Given the description of an element on the screen output the (x, y) to click on. 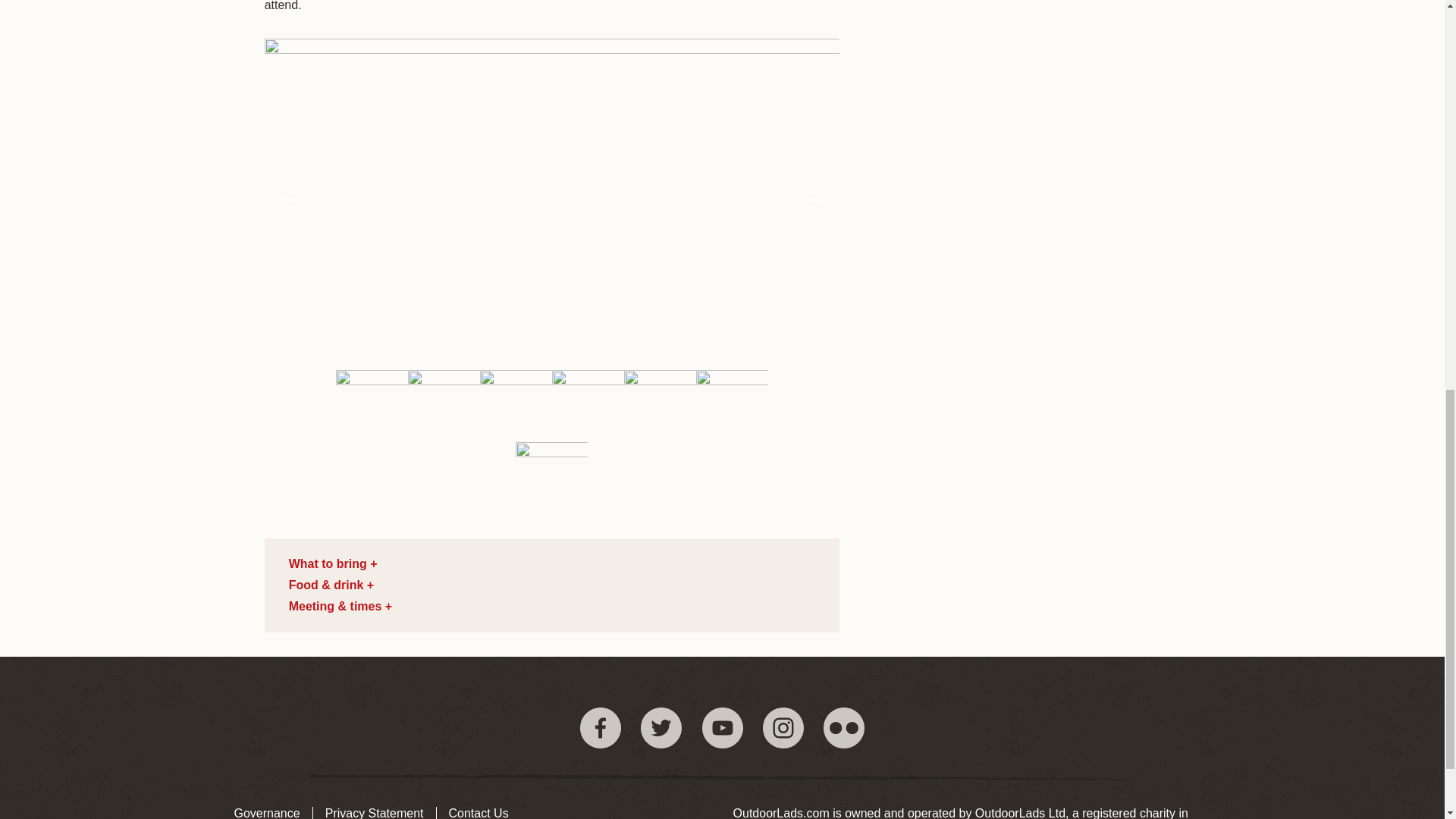
Next (816, 198)
Previous (287, 198)
